Given the description of an element on the screen output the (x, y) to click on. 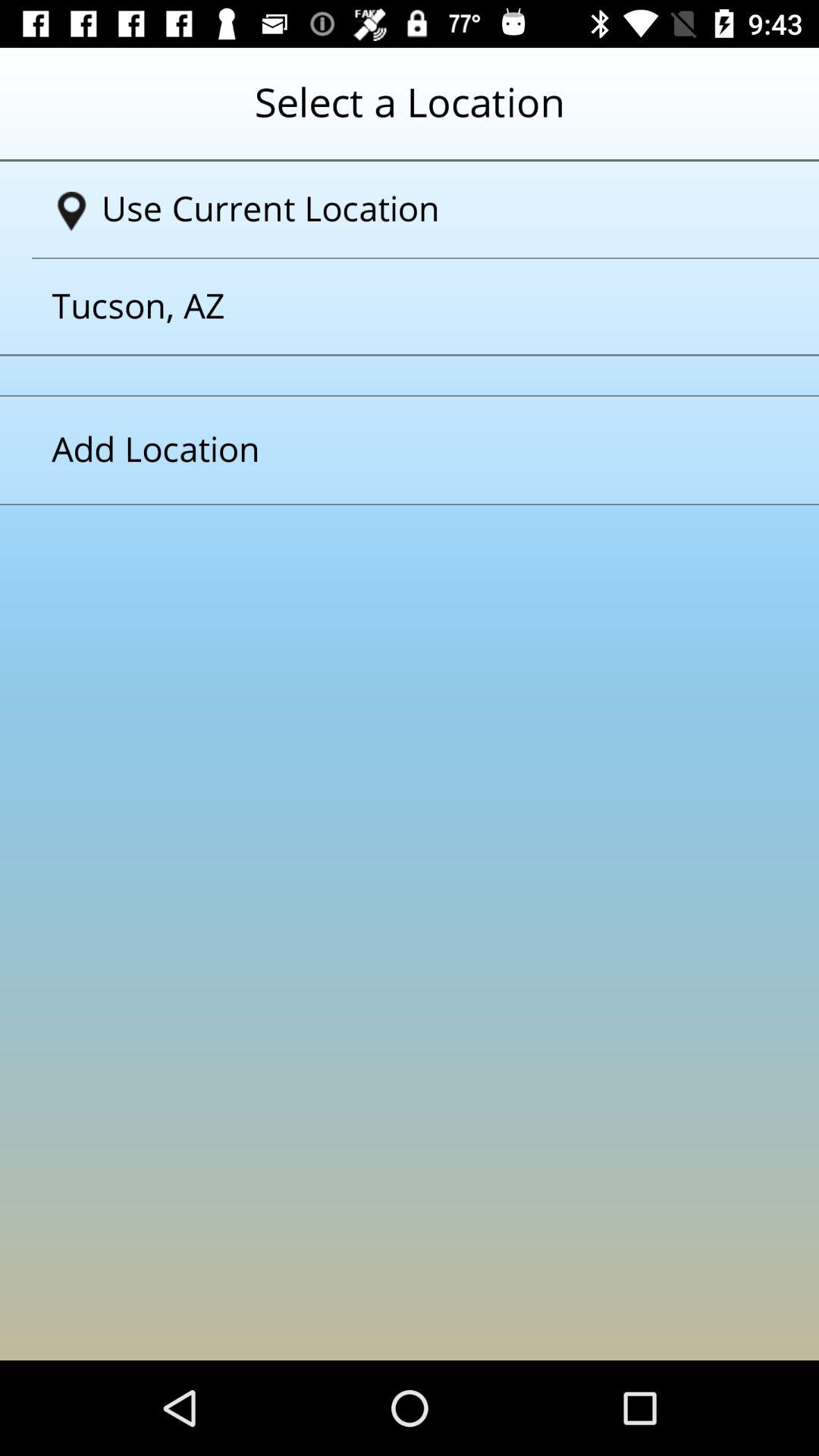
click on location above tucsonaz (415, 209)
